Given the description of an element on the screen output the (x, y) to click on. 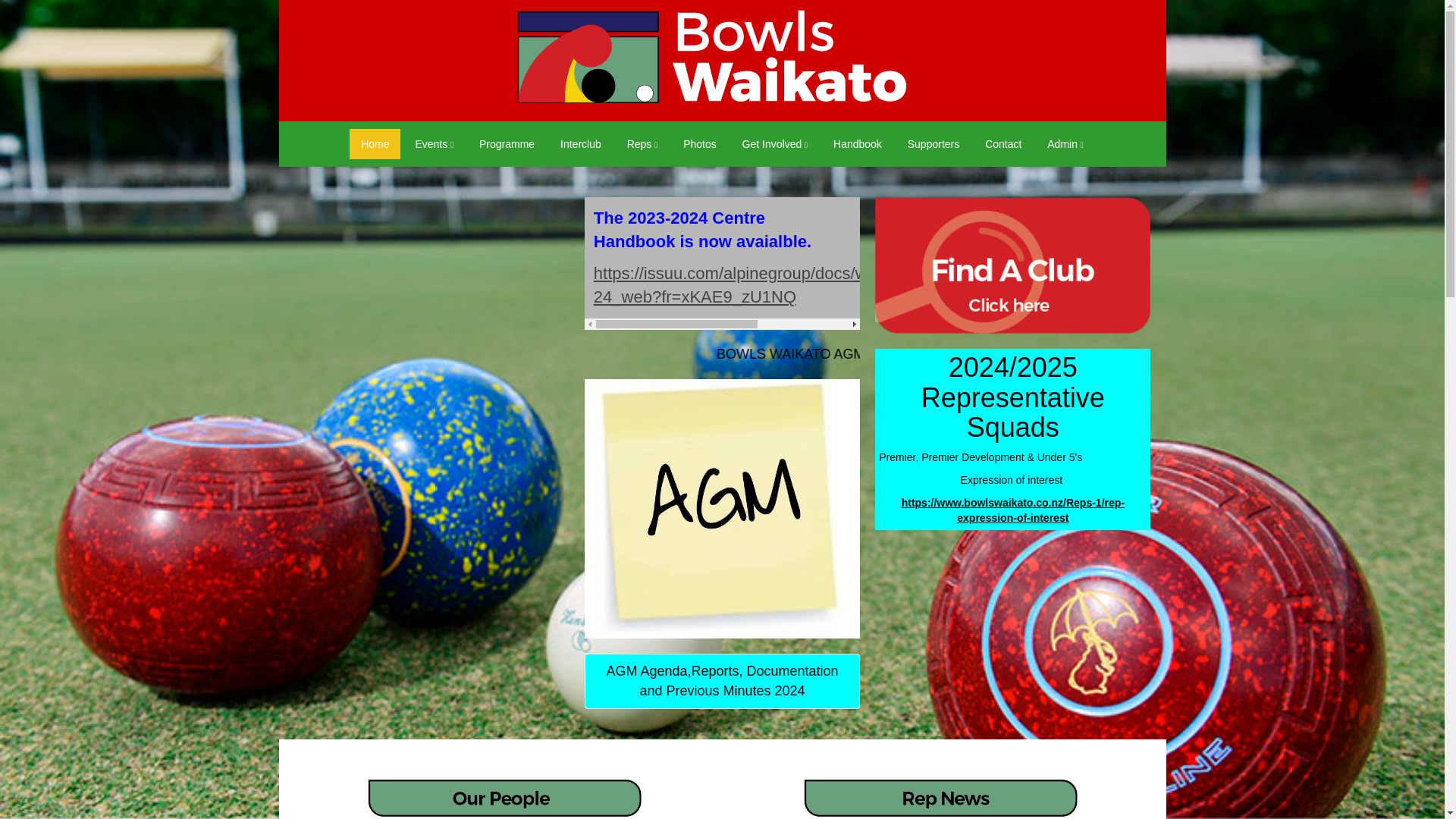
Reps (642, 143)
Photos (699, 143)
Events (433, 143)
Home (374, 143)
Admin (1064, 143)
Programme (506, 143)
Get Involved (774, 143)
Handbook (857, 143)
Interclub (580, 143)
AGM Agenda,Reports, Documentation and Previous Minutes 2024 (722, 681)
Contact (1003, 143)
Supporters (933, 143)
